Given the description of an element on the screen output the (x, y) to click on. 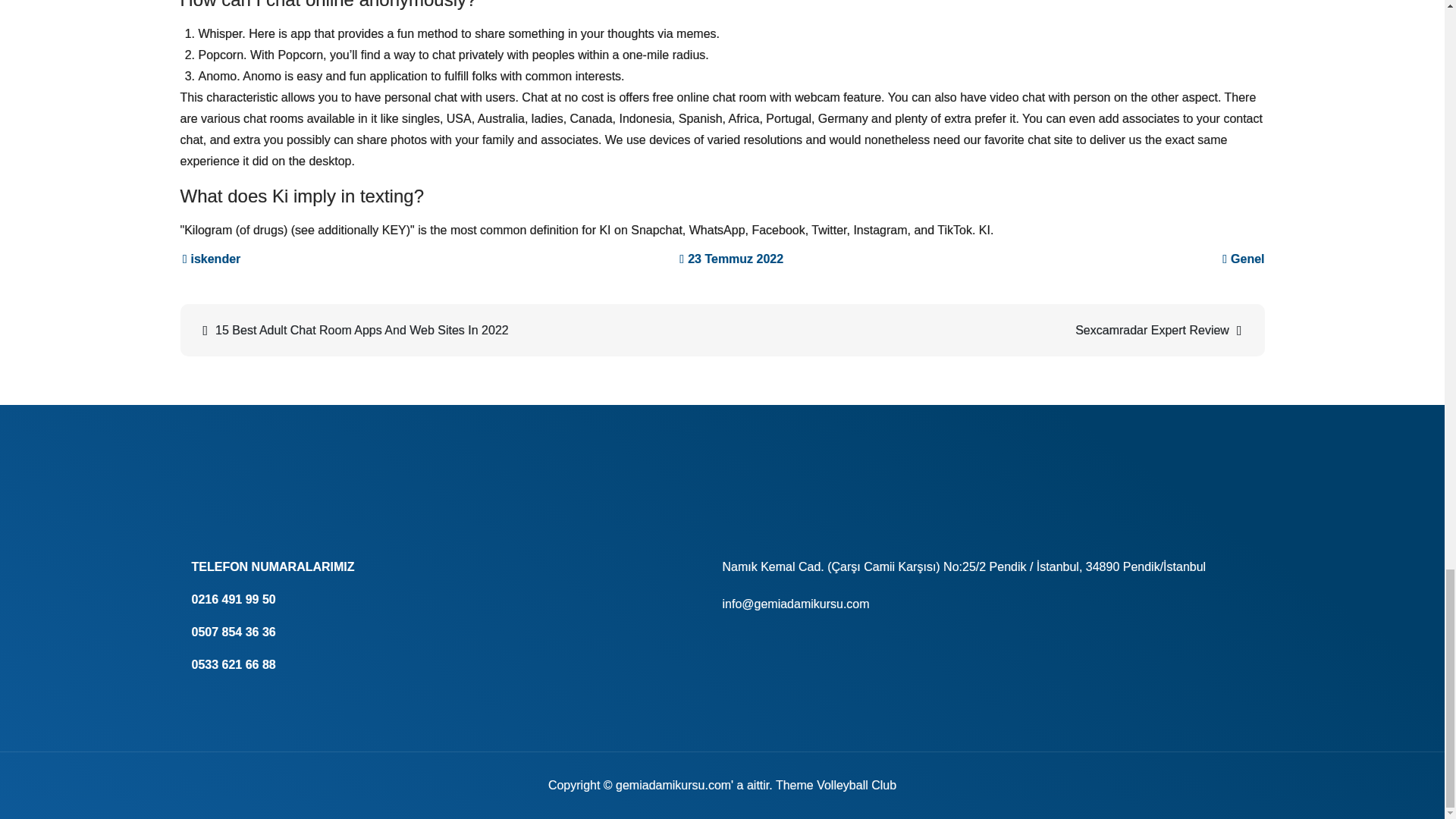
iskender (212, 258)
15 Best Adult Chat Room Apps And Web Sites In 2022 (453, 330)
Genel (1246, 258)
23 Temmuz 2022 (731, 258)
Sexcamradar Expert Review (991, 330)
